Given the description of an element on the screen output the (x, y) to click on. 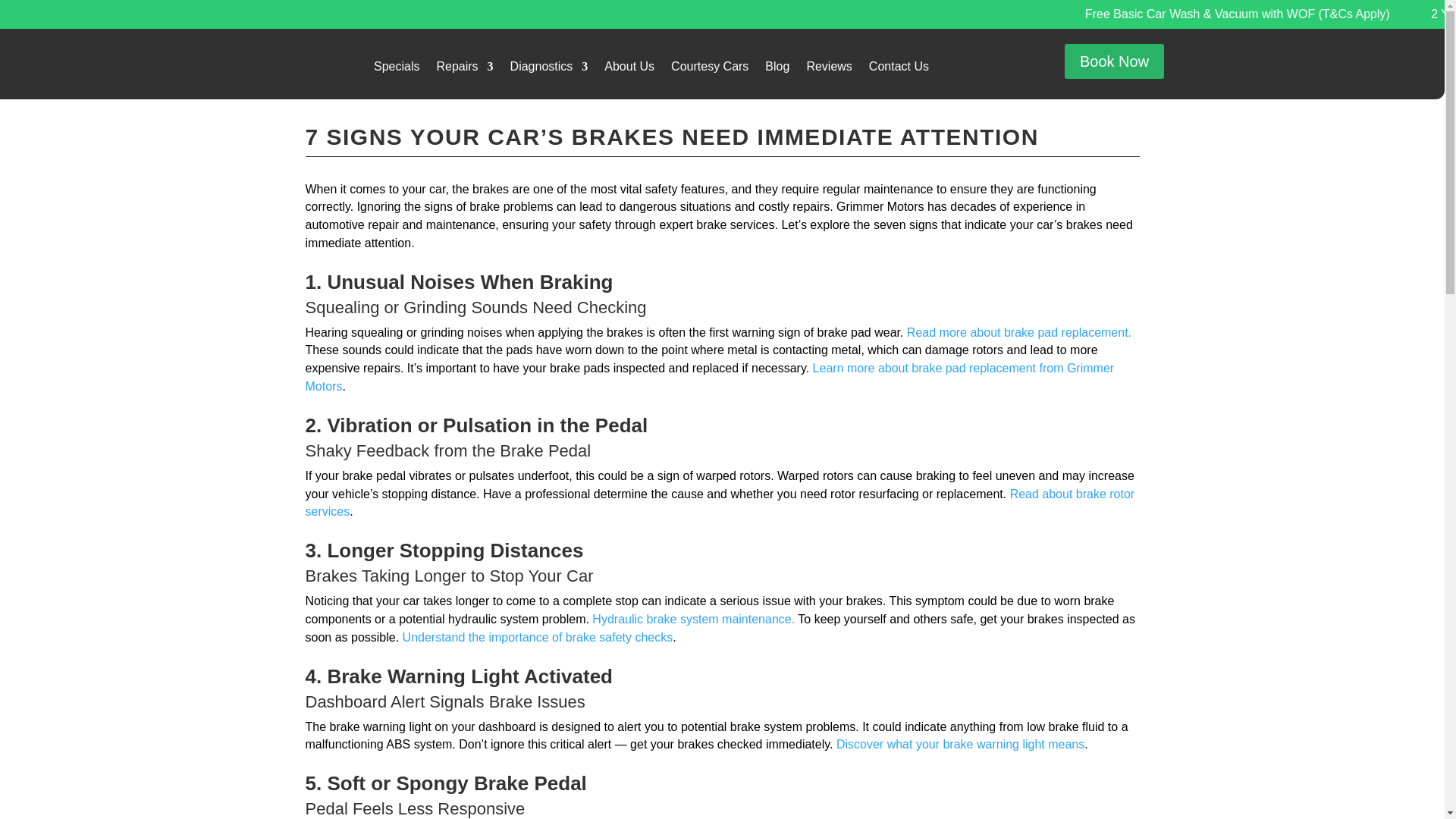
About Us (628, 69)
Blog (777, 69)
Specials (396, 69)
Courtesy Cars (709, 69)
Reviews (828, 69)
Repairs (464, 69)
Diagnostics (549, 69)
